Given the description of an element on the screen output the (x, y) to click on. 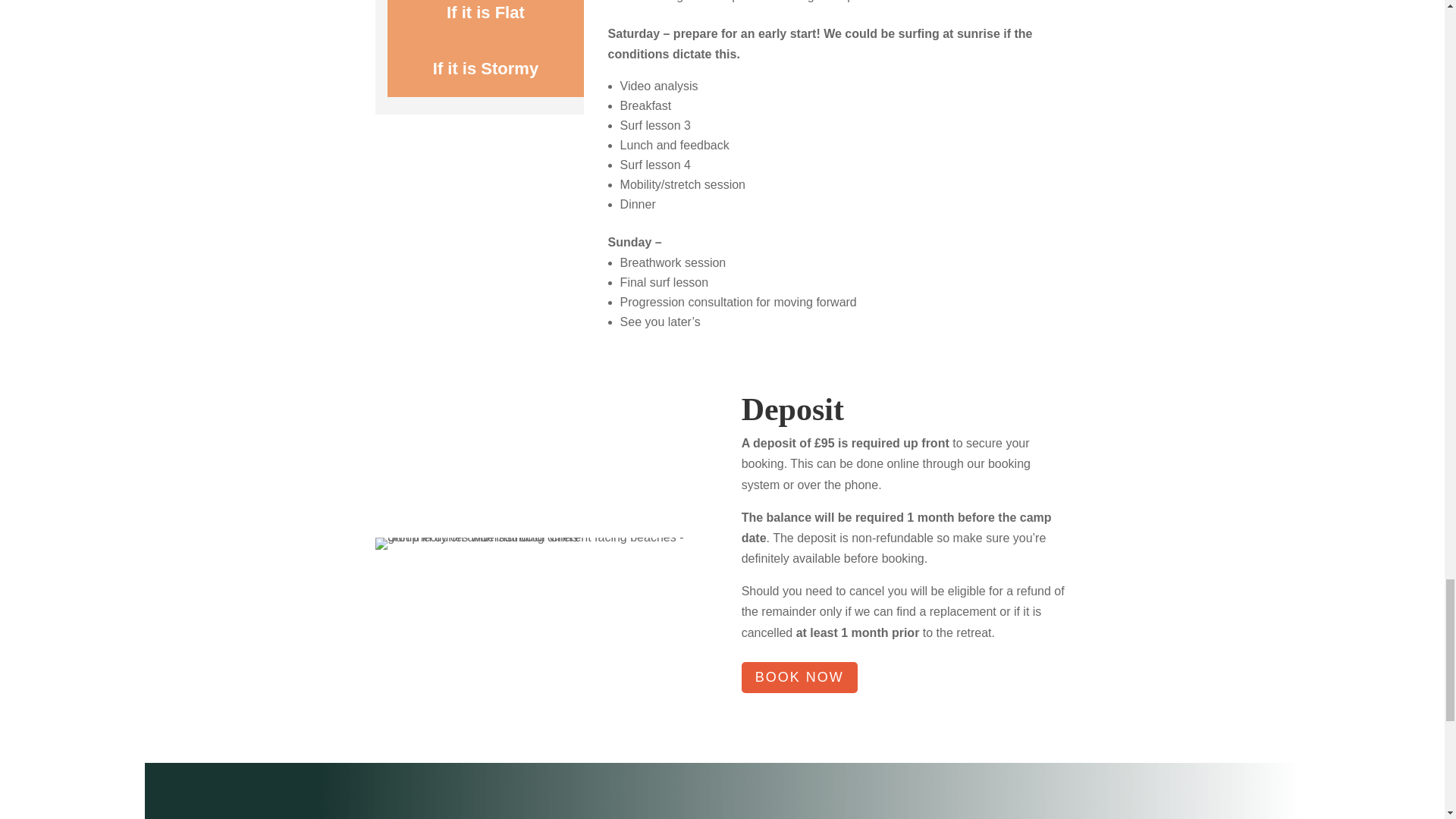
BOOK NOW (799, 676)
If it is Stormy (485, 68)
1E23D4E4-3509-4320-BCF1-218DB1E41686 (539, 543)
If it is Flat (485, 20)
